Given the description of an element on the screen output the (x, y) to click on. 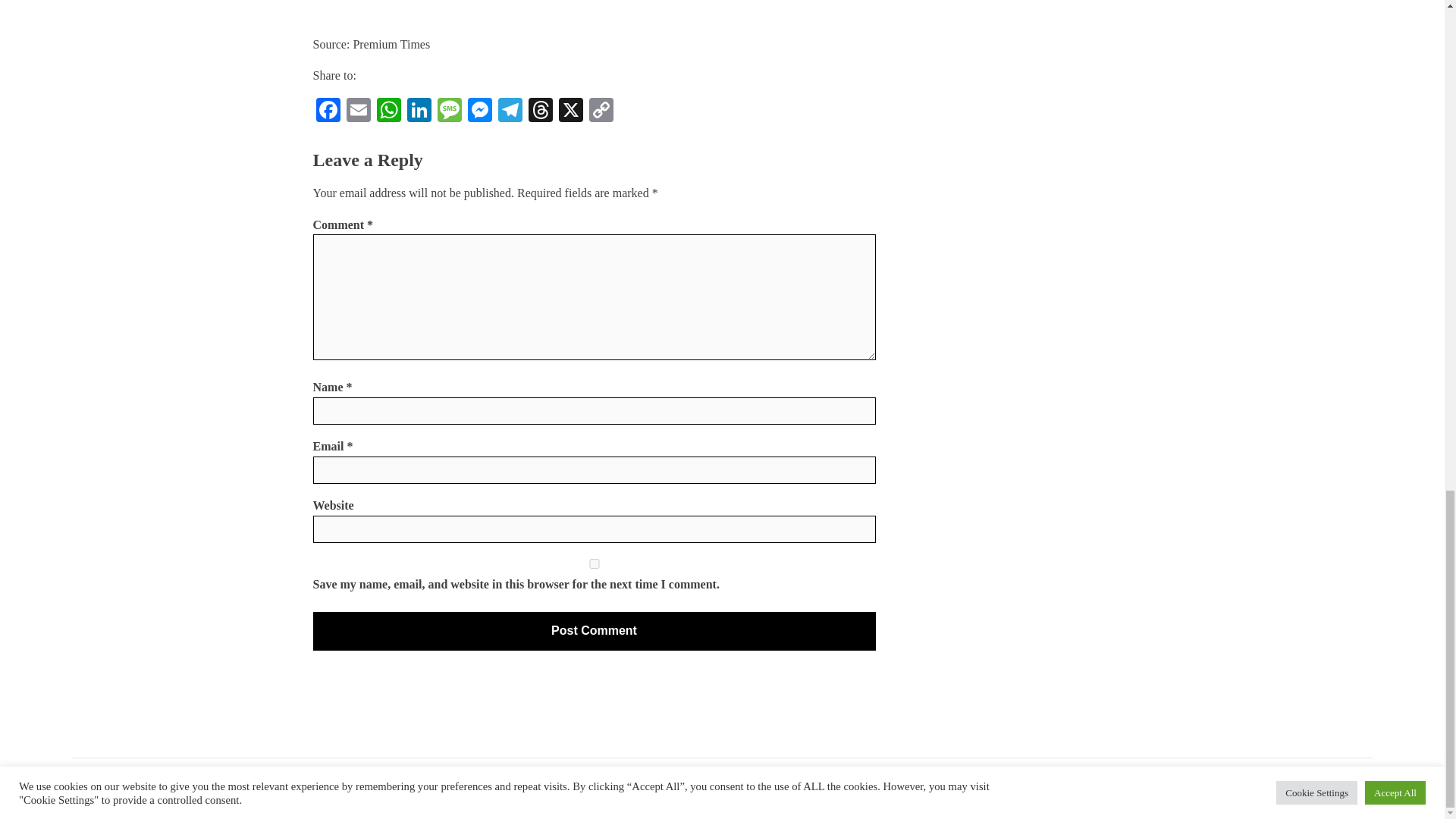
yes (594, 563)
Post Comment (594, 630)
Email (357, 111)
Copy Link (600, 111)
Messenger (479, 111)
WhatsApp (387, 111)
LinkedIn (418, 111)
Message (448, 111)
Telegram (509, 111)
Facebook (327, 111)
X (569, 111)
Threads (539, 111)
